Given the description of an element on the screen output the (x, y) to click on. 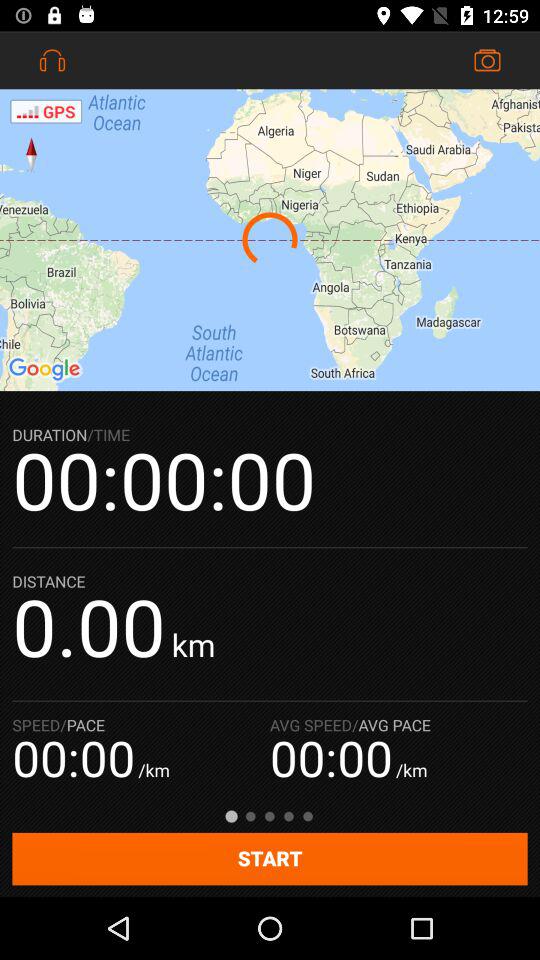
open start item (269, 858)
